Given the description of an element on the screen output the (x, y) to click on. 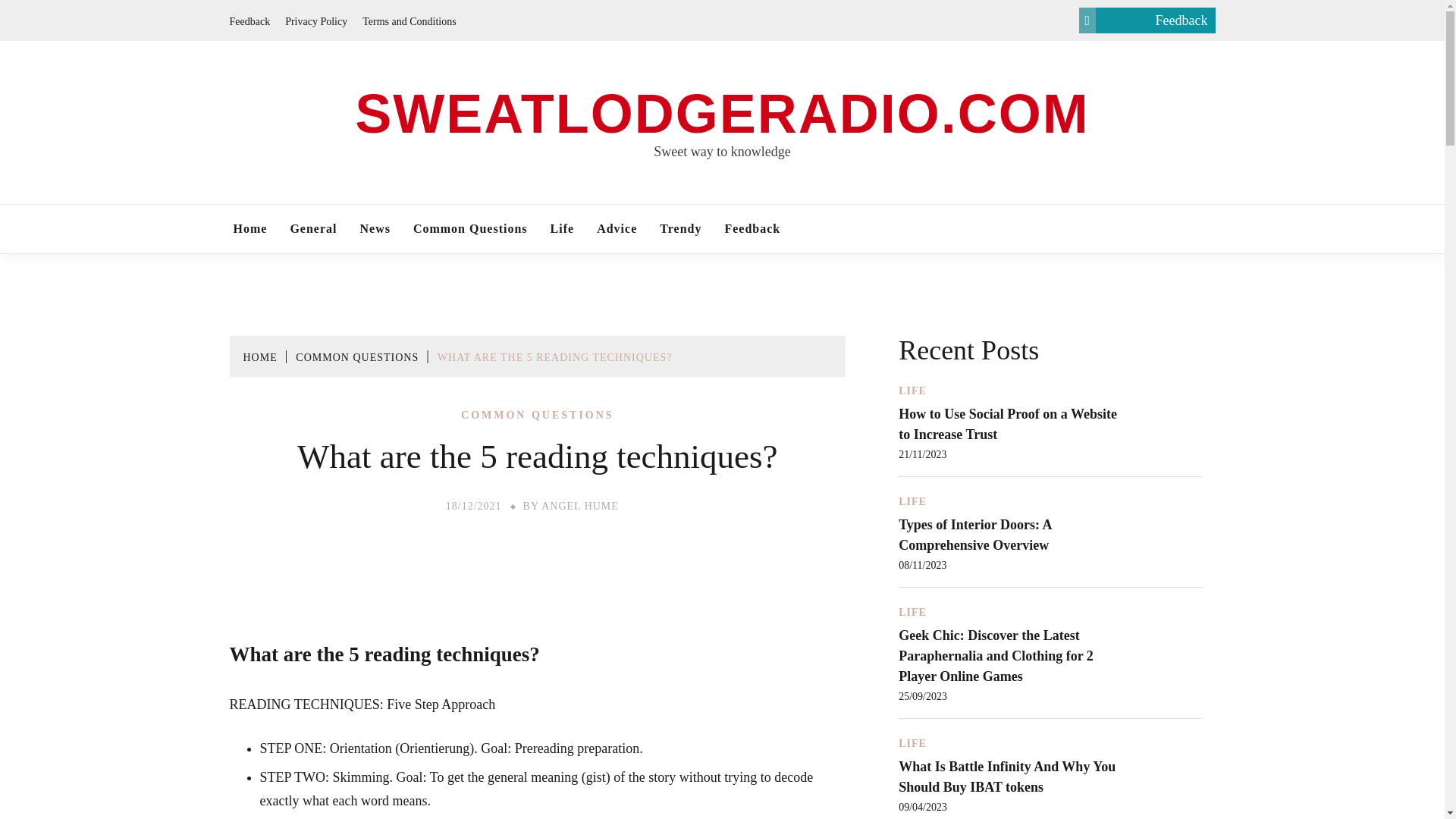
LIFE (912, 501)
Types of Interior Doors: A Comprehensive Overview (974, 534)
COMMON QUESTIONS (357, 357)
Common Questions (470, 228)
Trendy (680, 228)
Feedback (752, 228)
Terms and Conditions (408, 20)
WHAT ARE THE 5 READING TECHNIQUES? (555, 357)
ANGEL HUME (579, 505)
Privacy Policy (316, 20)
LIFE (912, 390)
HOME (259, 357)
LIFE (912, 612)
How to Use Social Proof on a Website to Increase Trust (1007, 424)
COMMON QUESTIONS (537, 415)
